Given the description of an element on the screen output the (x, y) to click on. 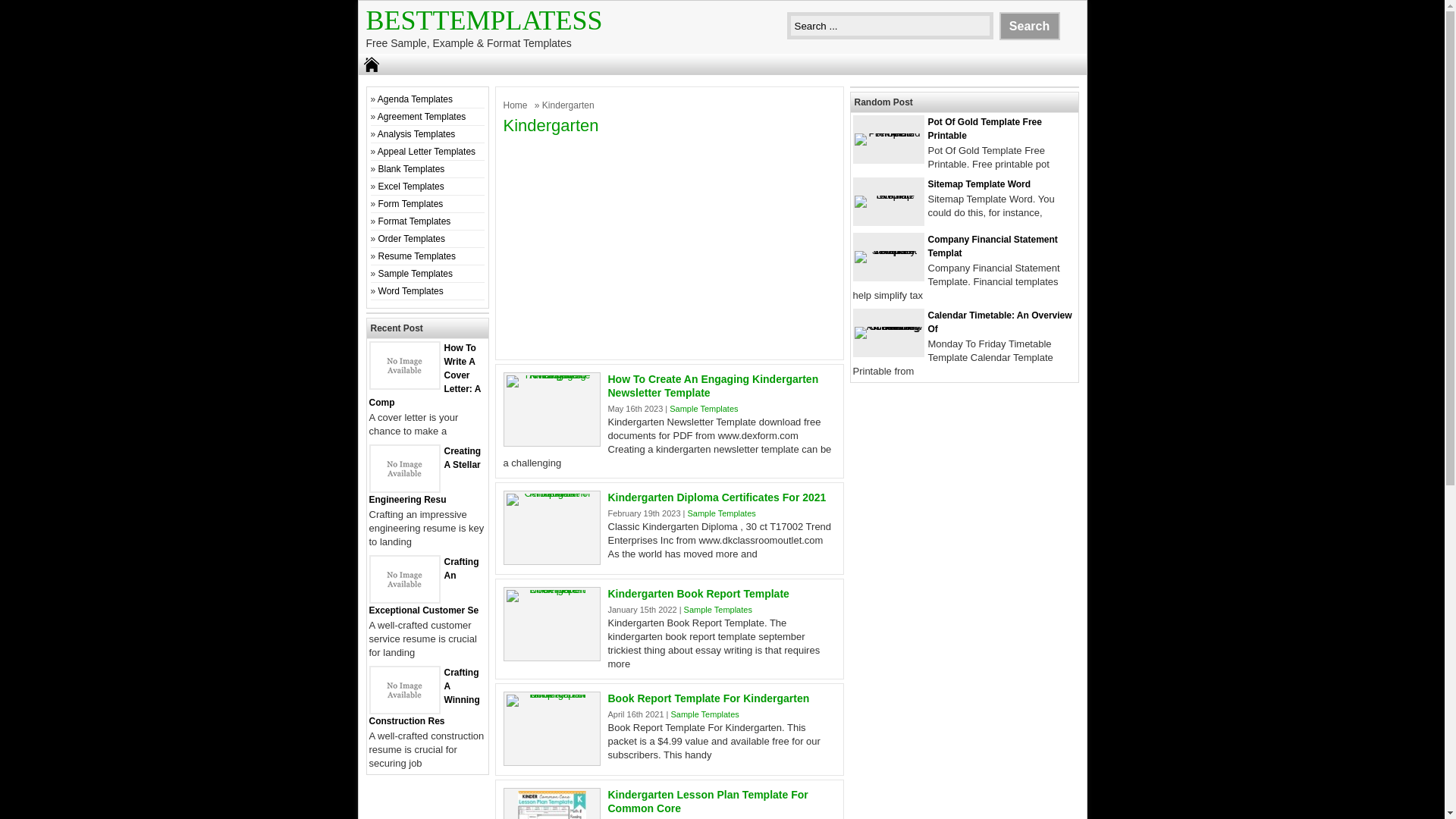
Order Templates (411, 238)
Sample Templates (415, 273)
Search (1028, 26)
How To Create An Engaging Kindergarten Newsletter Template (551, 374)
Word Templates (411, 290)
How to Write a Cover Letter: A Comprehensive Guide (403, 384)
Book Report Template For Kindergarten (708, 698)
Kindergarten Diploma Certificates For 2021 (717, 497)
Sample Templates (703, 714)
Book Report Template For Kindergarten (551, 694)
Agreement Templates (421, 116)
How To Write A Cover Letter: A Comp (424, 375)
Agenda Templates (414, 99)
BESTTEMPLATESS (483, 20)
Kindergarten Diploma Certificates For 2021 (717, 497)
